Given the description of an element on the screen output the (x, y) to click on. 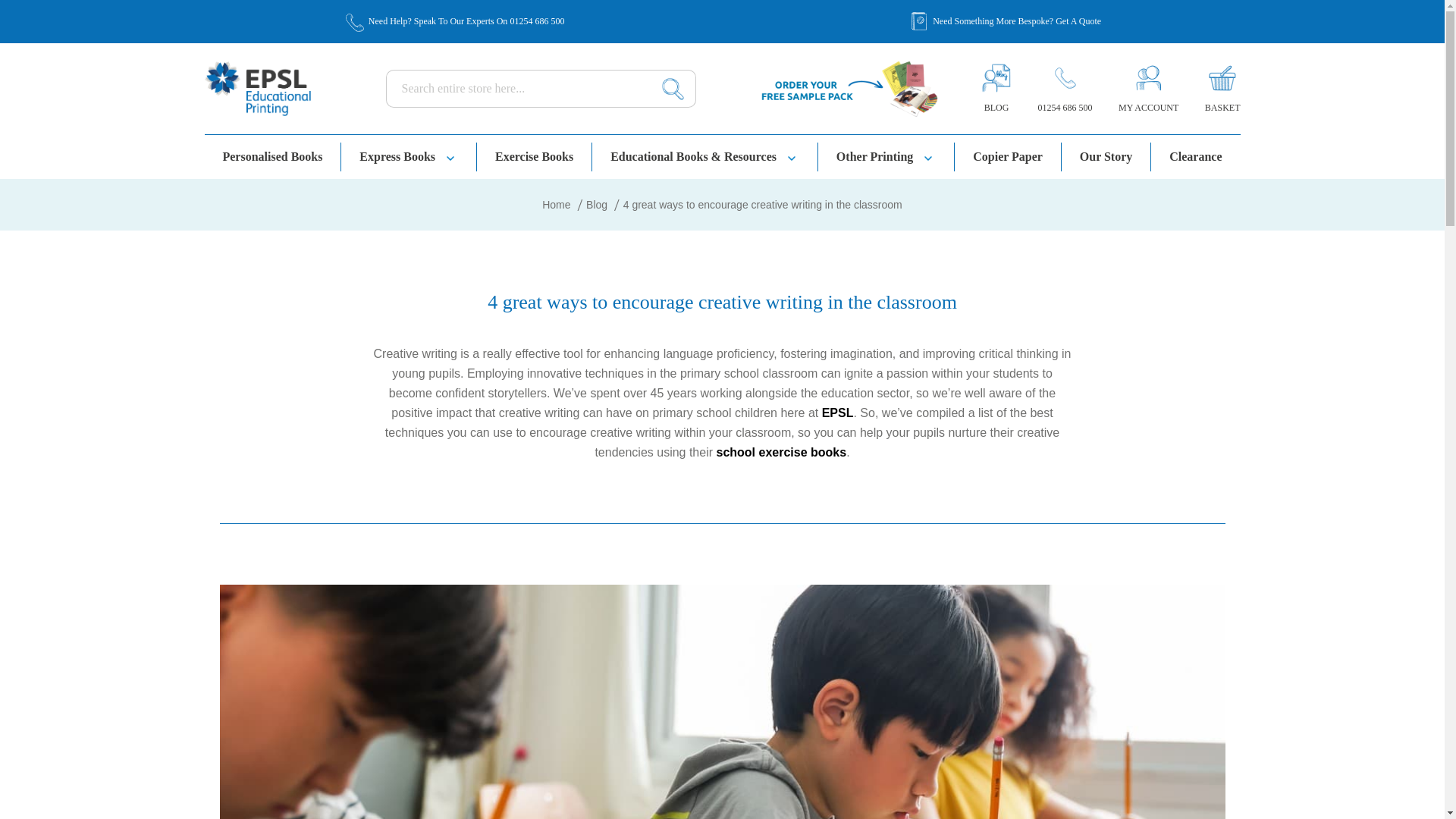
EPSL Educational Printing (258, 88)
Our Story (1106, 156)
Clearance (1195, 156)
Personalised Books (273, 156)
01254 686 500 (1065, 106)
BLOG (996, 106)
Personalised Books (273, 156)
Other Printing (886, 156)
Copier Paper (1008, 156)
Clearance (1195, 156)
Exercise Books (534, 156)
Search (673, 88)
01254 686 500 (536, 21)
MY ACCOUNT (1147, 106)
Express Books (408, 156)
